Given the description of an element on the screen output the (x, y) to click on. 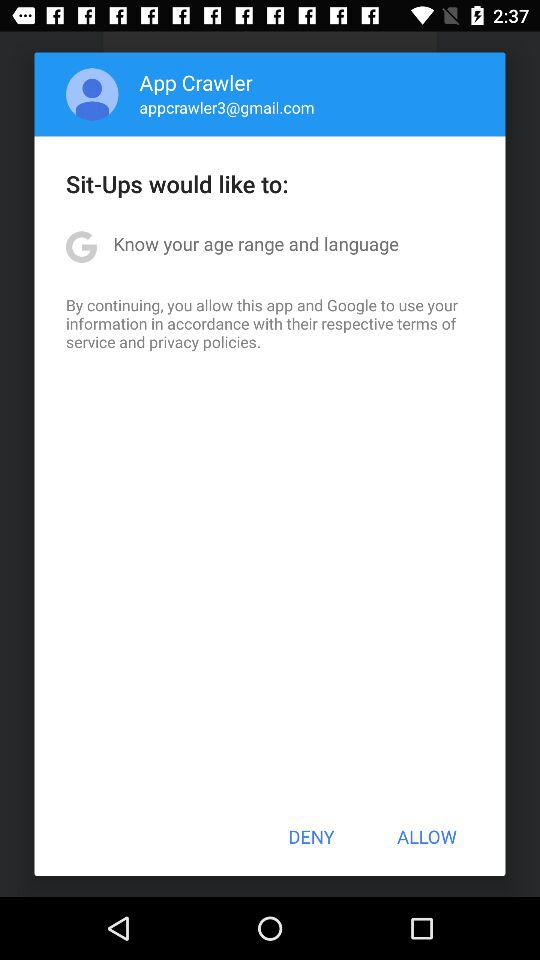
jump until the know your age app (255, 243)
